Given the description of an element on the screen output the (x, y) to click on. 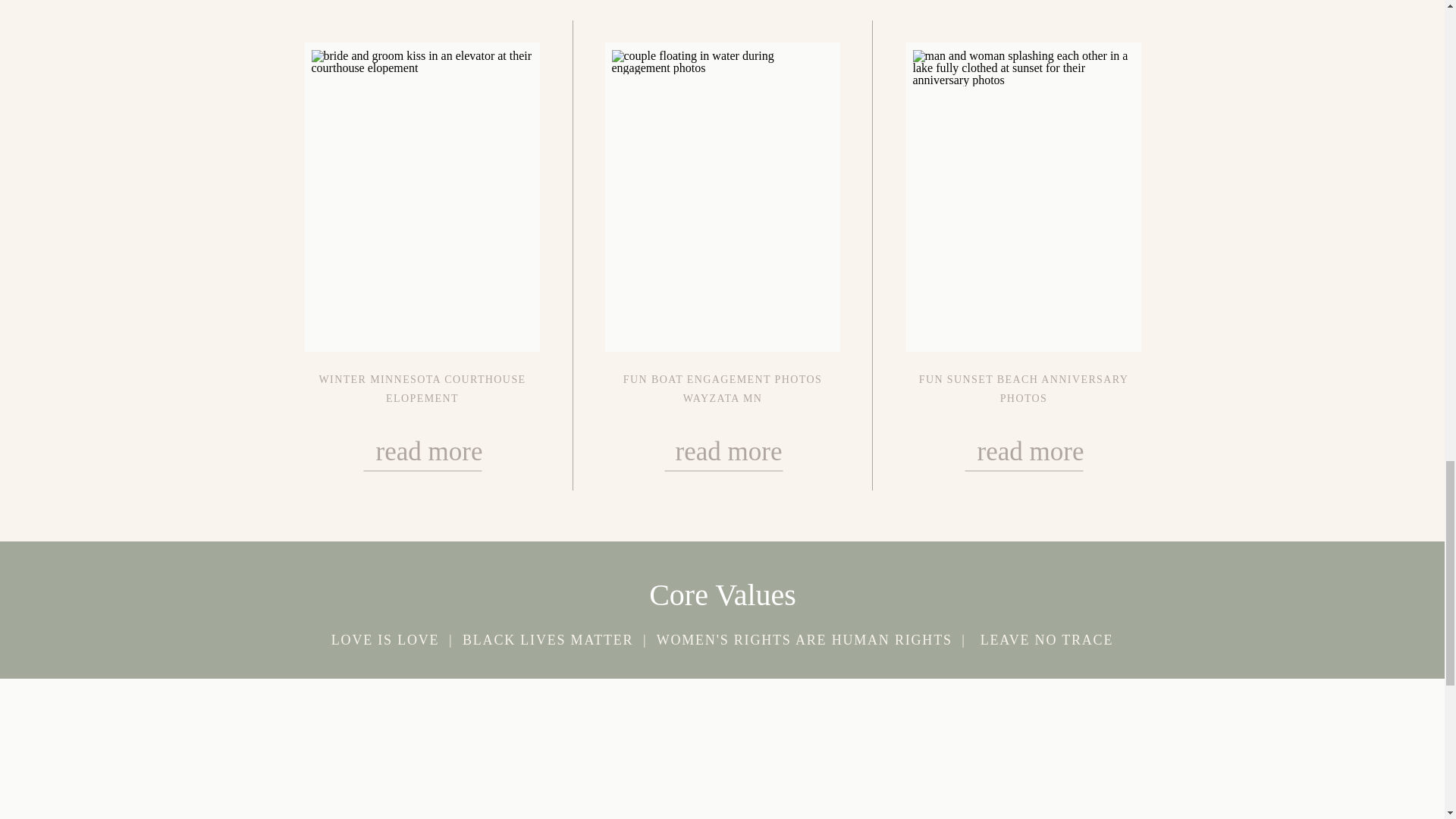
FUN BOAT ENGAGEMENT PHOTOS WAYZATA MN (722, 388)
WINTER MINNESOTA COURTHOUSE ELOPEMENT (421, 388)
Winter Minnesota Courthouse Elopement (422, 457)
read more (422, 457)
Fun Boat Engagement Photos Wayzata MN (721, 457)
FUN SUNSET BEACH ANNIVERSARY PHOTOS (1023, 388)
Fun Sunset Beach Anniversary Photos (1022, 457)
read more (1022, 457)
read more (721, 457)
